Given the description of an element on the screen output the (x, y) to click on. 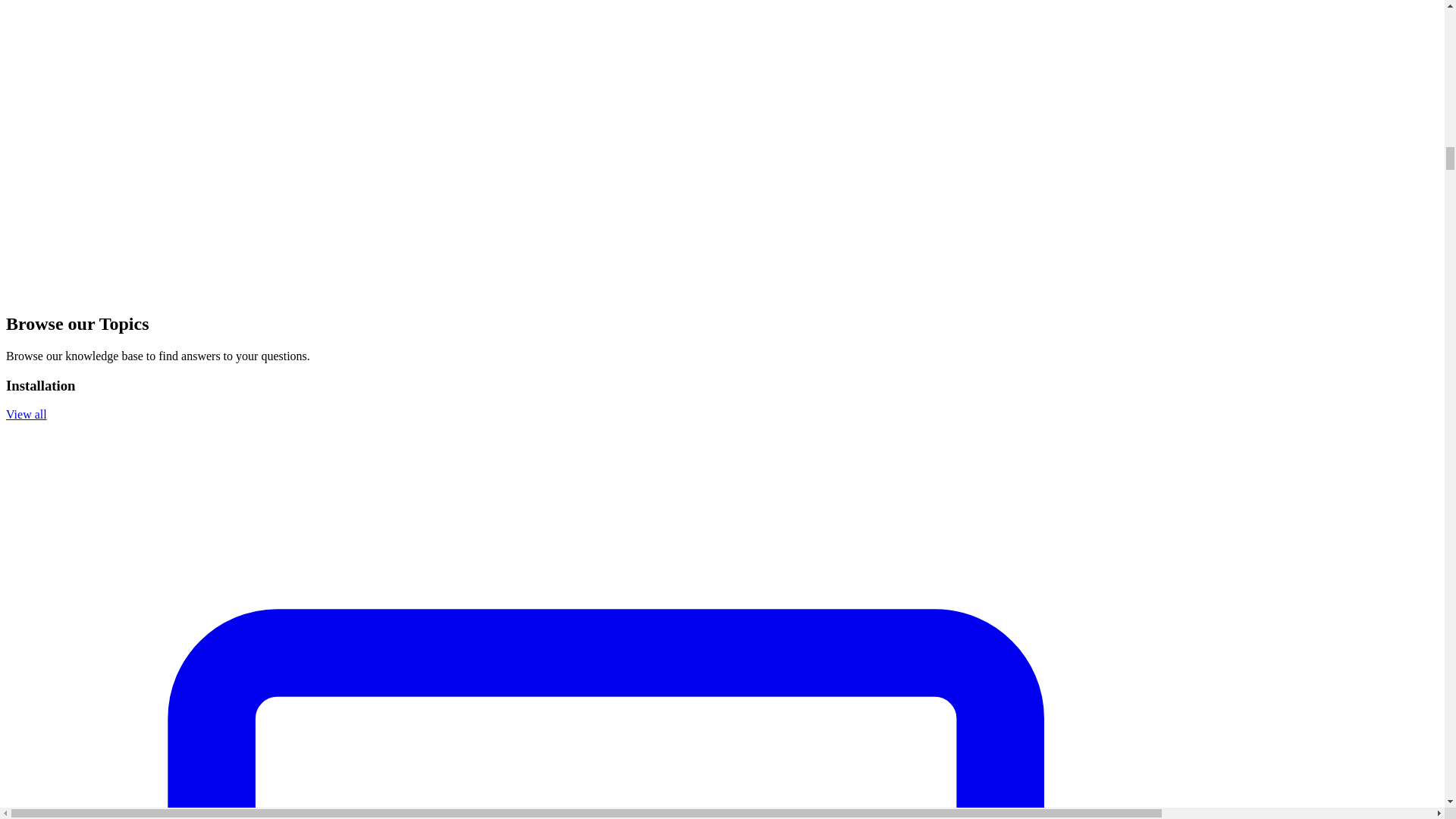
View all (25, 413)
